Given the description of an element on the screen output the (x, y) to click on. 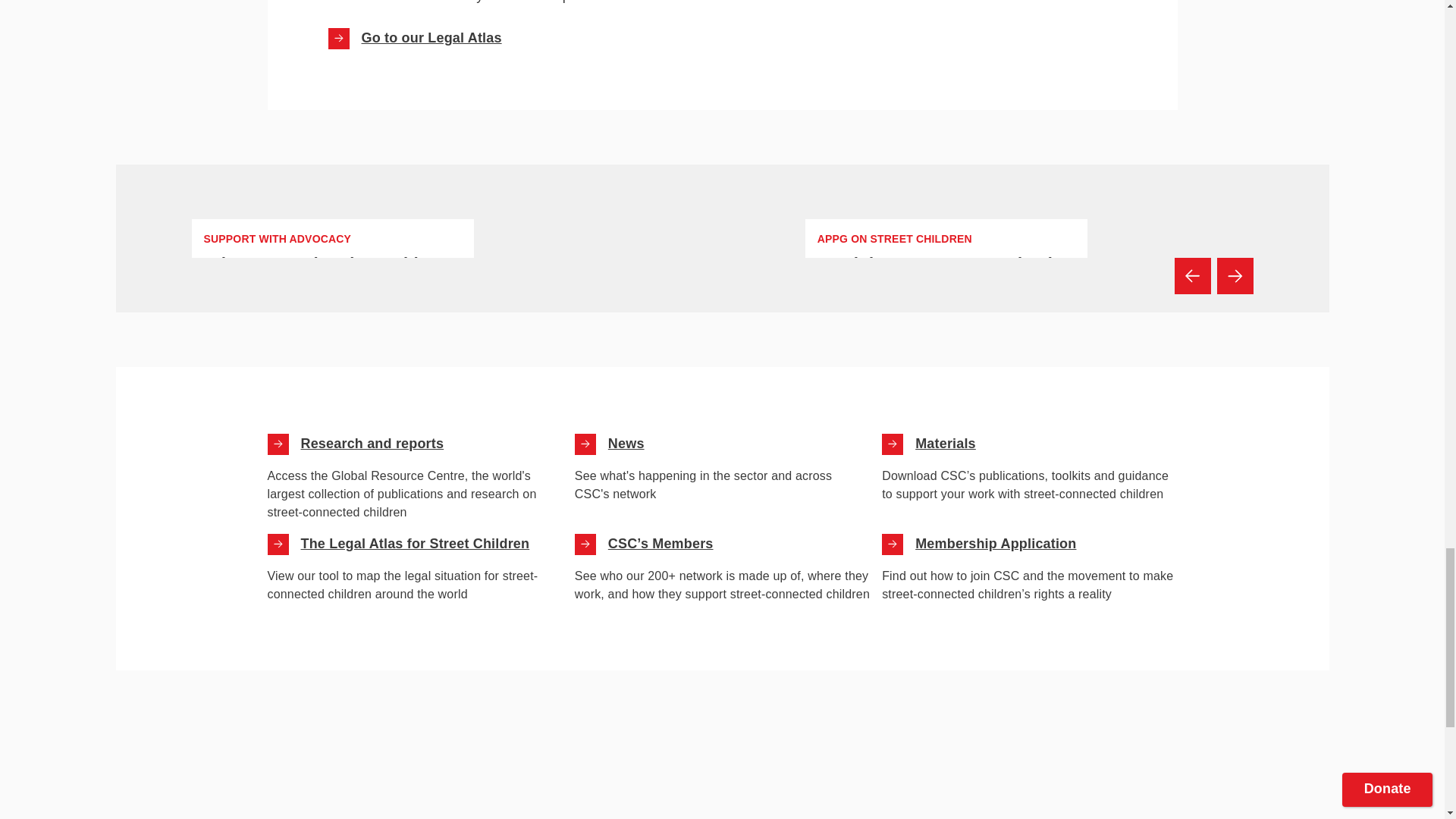
Go to content (892, 444)
Go to content (277, 444)
Go to content (585, 444)
Go to content (945, 285)
Go to content (332, 264)
